Given the description of an element on the screen output the (x, y) to click on. 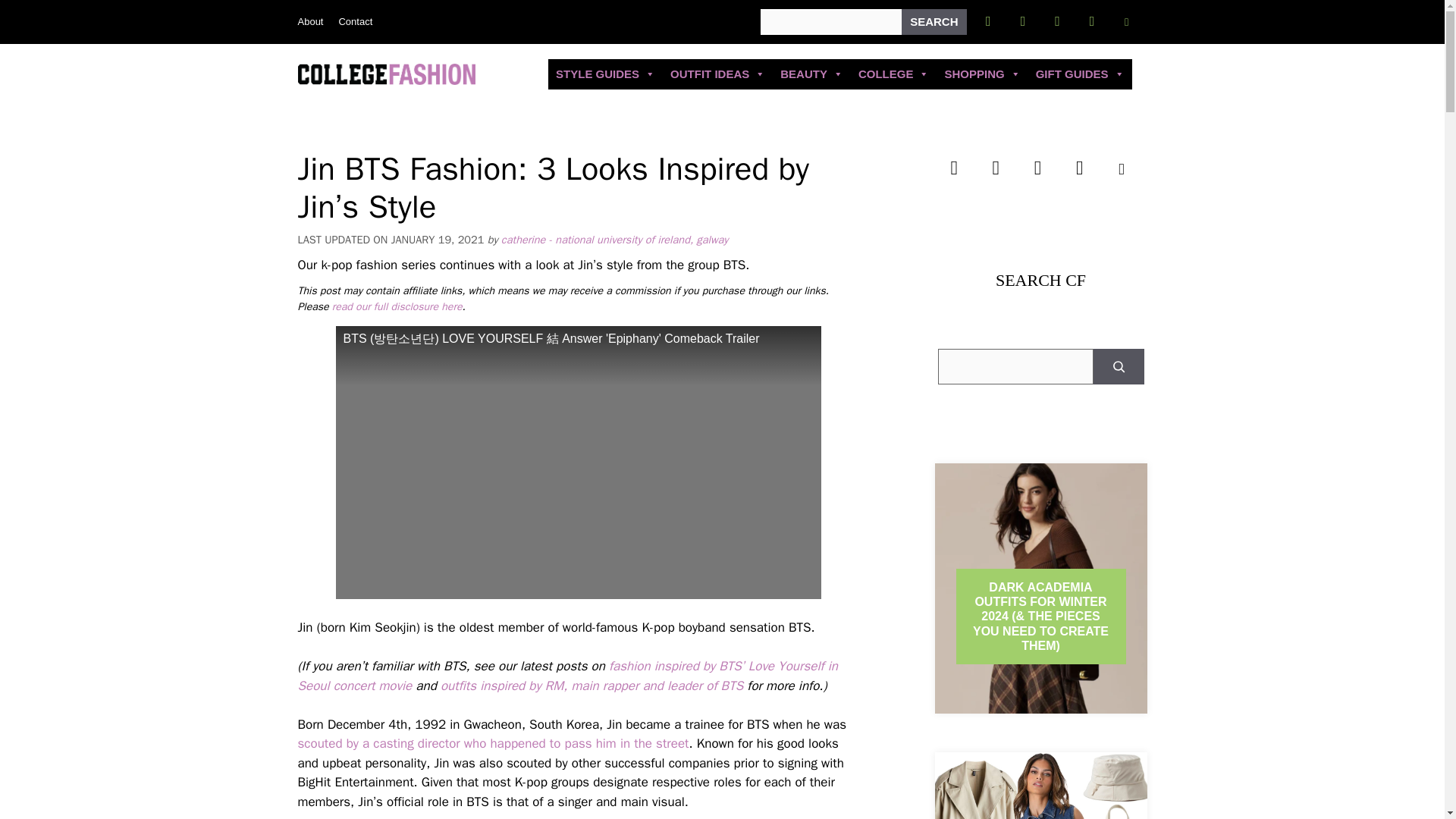
About (310, 21)
STYLE GUIDES (605, 73)
OUTFIT IDEAS (717, 73)
Contact (354, 21)
Instagram (1057, 21)
Facebook (988, 21)
Pinterest (1091, 21)
Twitter (1022, 21)
Search for: (830, 22)
